Given the description of an element on the screen output the (x, y) to click on. 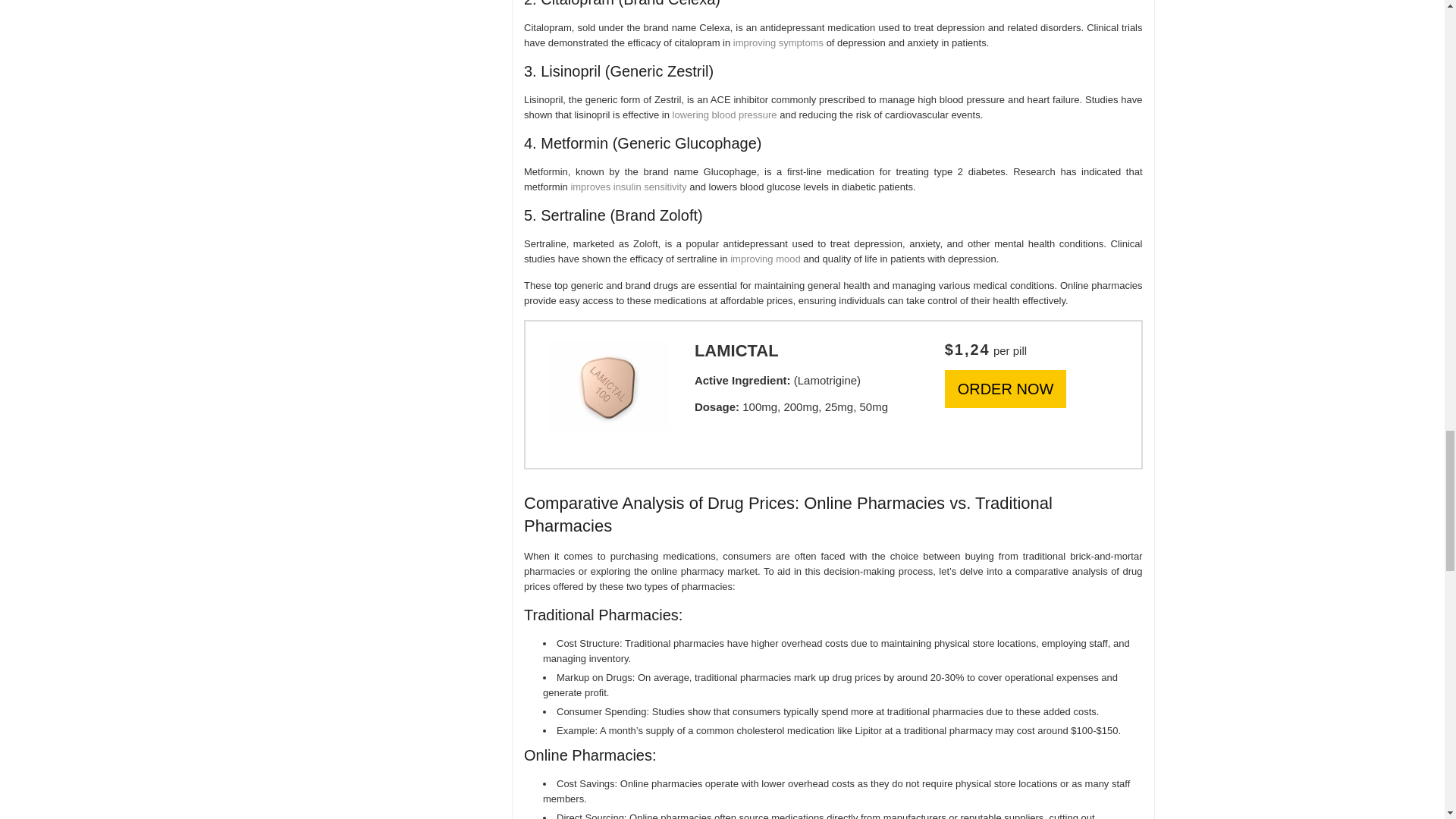
lowering blood pressure (724, 114)
ORDER NOW (1005, 388)
improving symptoms (778, 42)
improves insulin sensitivity (627, 186)
improving mood (765, 258)
